Given the description of an element on the screen output the (x, y) to click on. 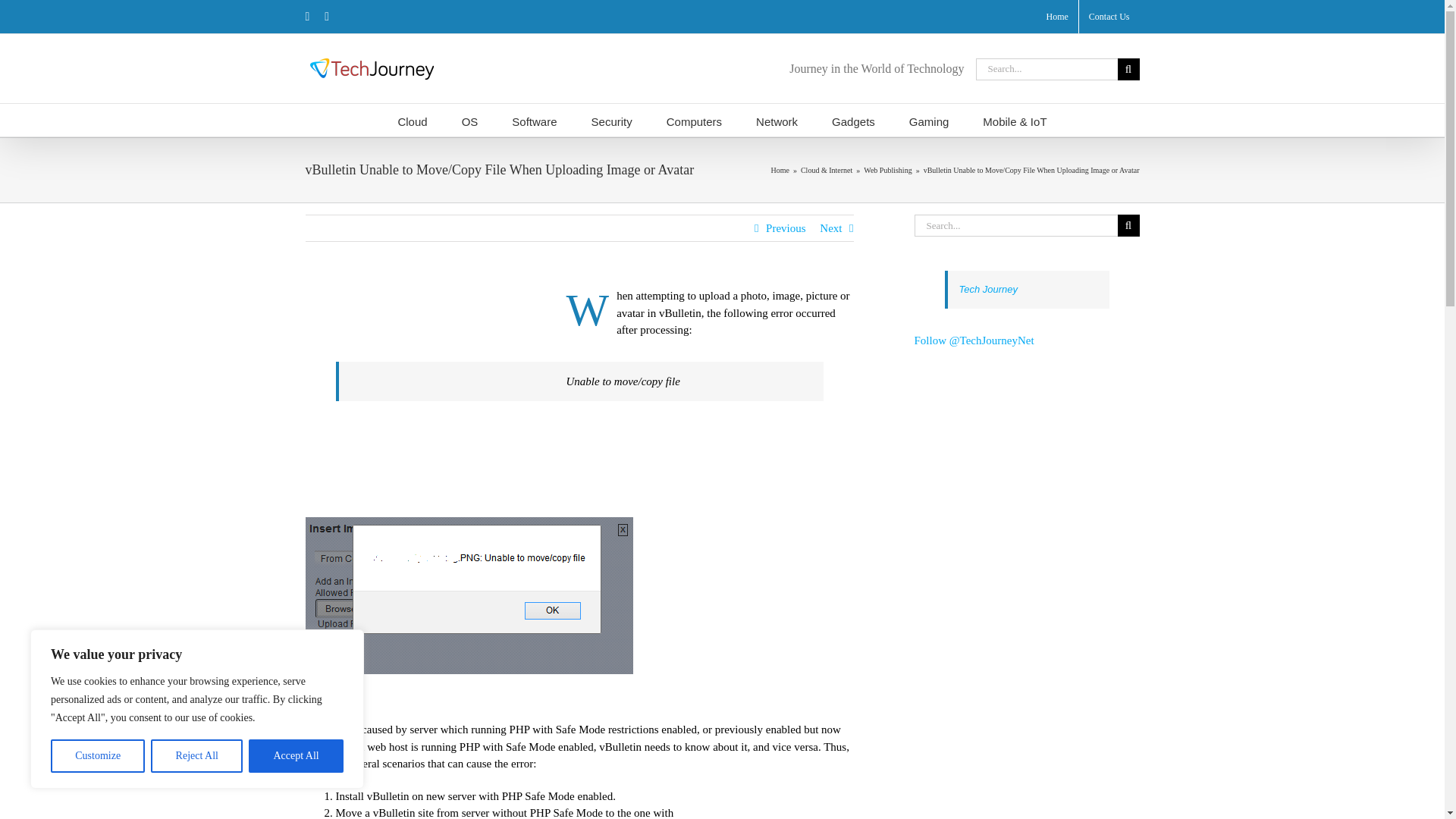
Reject All (197, 756)
Contact Us (1109, 16)
Cloud (411, 120)
Home (1056, 16)
Accept All (295, 756)
Advertisement (431, 399)
Advertisement (777, 806)
Customize (97, 756)
